Given the description of an element on the screen output the (x, y) to click on. 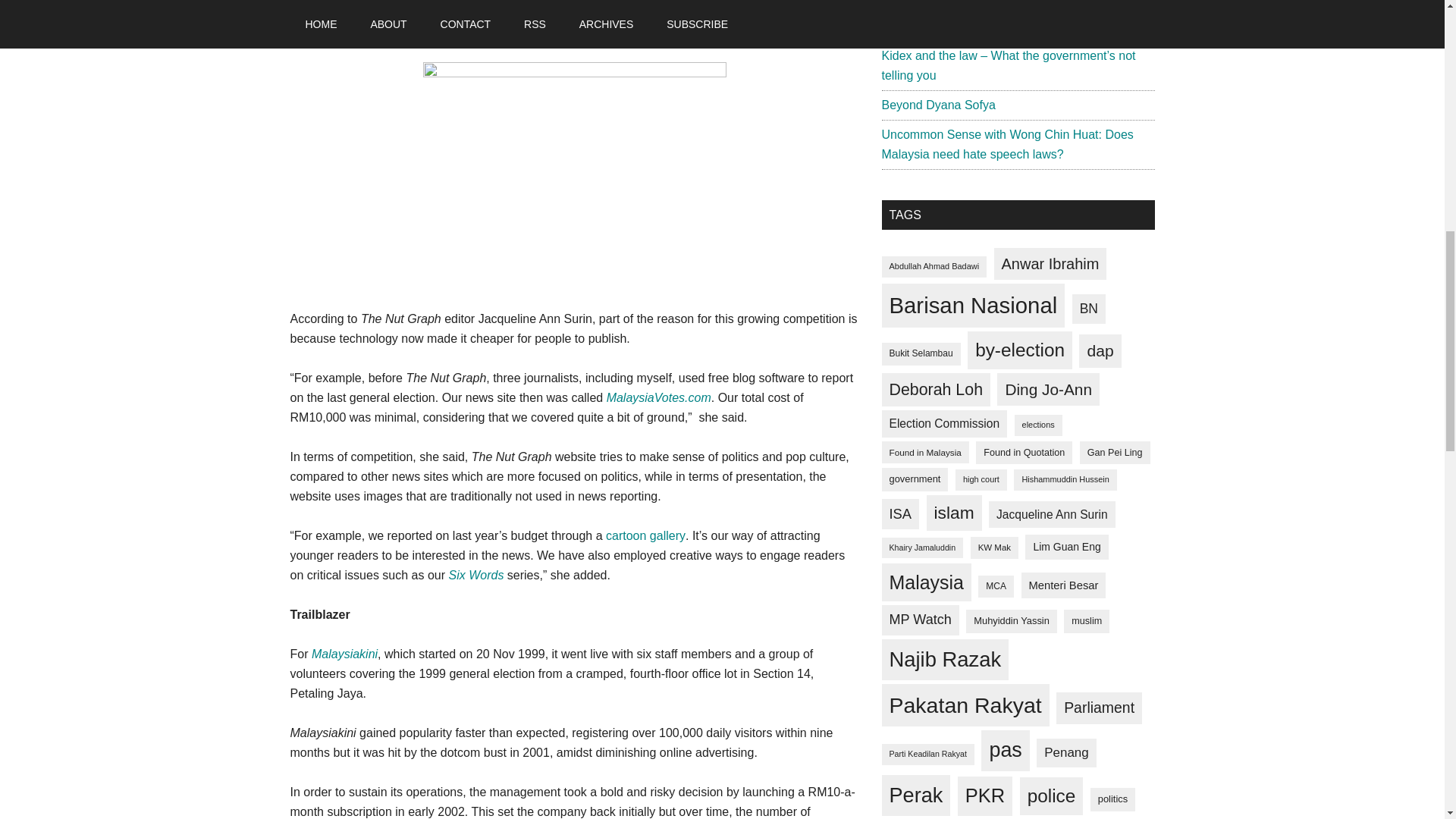
cartoon gallery (645, 535)
Malaysiakini (344, 653)
MalaysiaVotes.com (659, 397)
Six Words (475, 574)
